Given the description of an element on the screen output the (x, y) to click on. 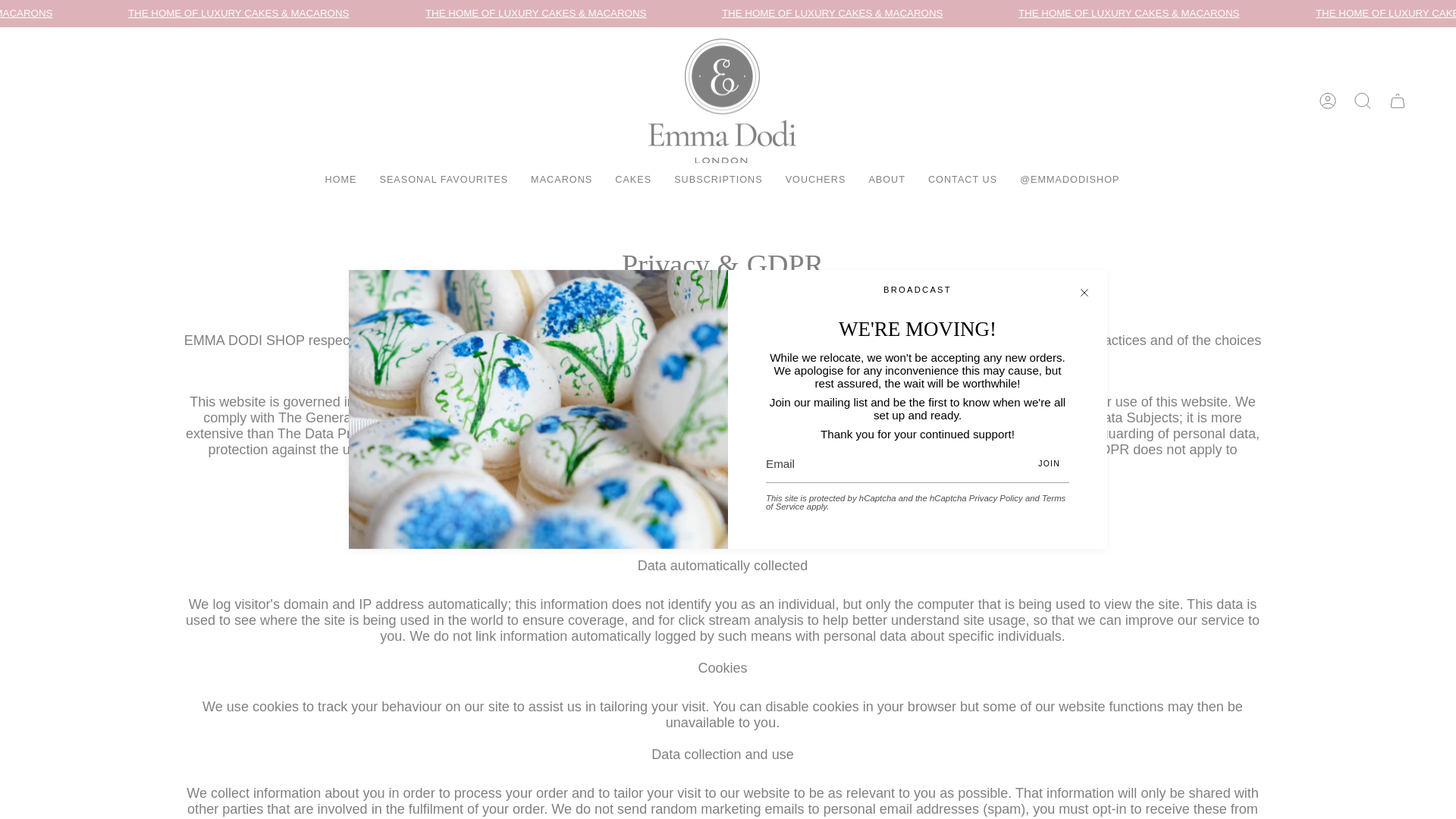
CAKES (633, 179)
ABOUT (887, 179)
VOUCHERS (815, 179)
SEASONAL FAVOURITES (443, 179)
SUBSCRIPTIONS (717, 179)
Close (1084, 292)
HOME (341, 179)
CONTACT US (963, 179)
MACARONS (561, 179)
